Given the description of an element on the screen output the (x, y) to click on. 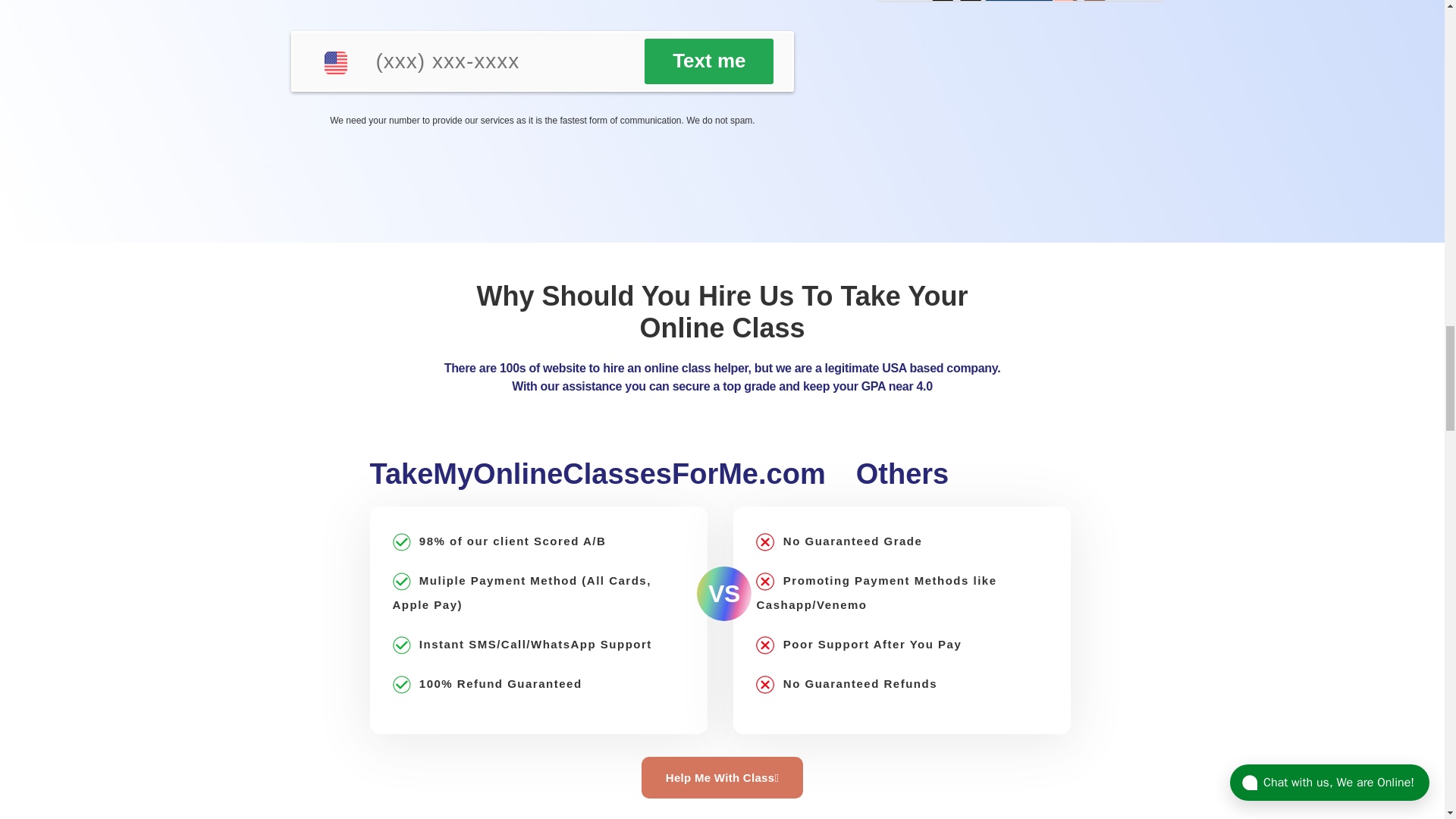
Help Me With Class (722, 777)
Text me (709, 61)
